Given the description of an element on the screen output the (x, y) to click on. 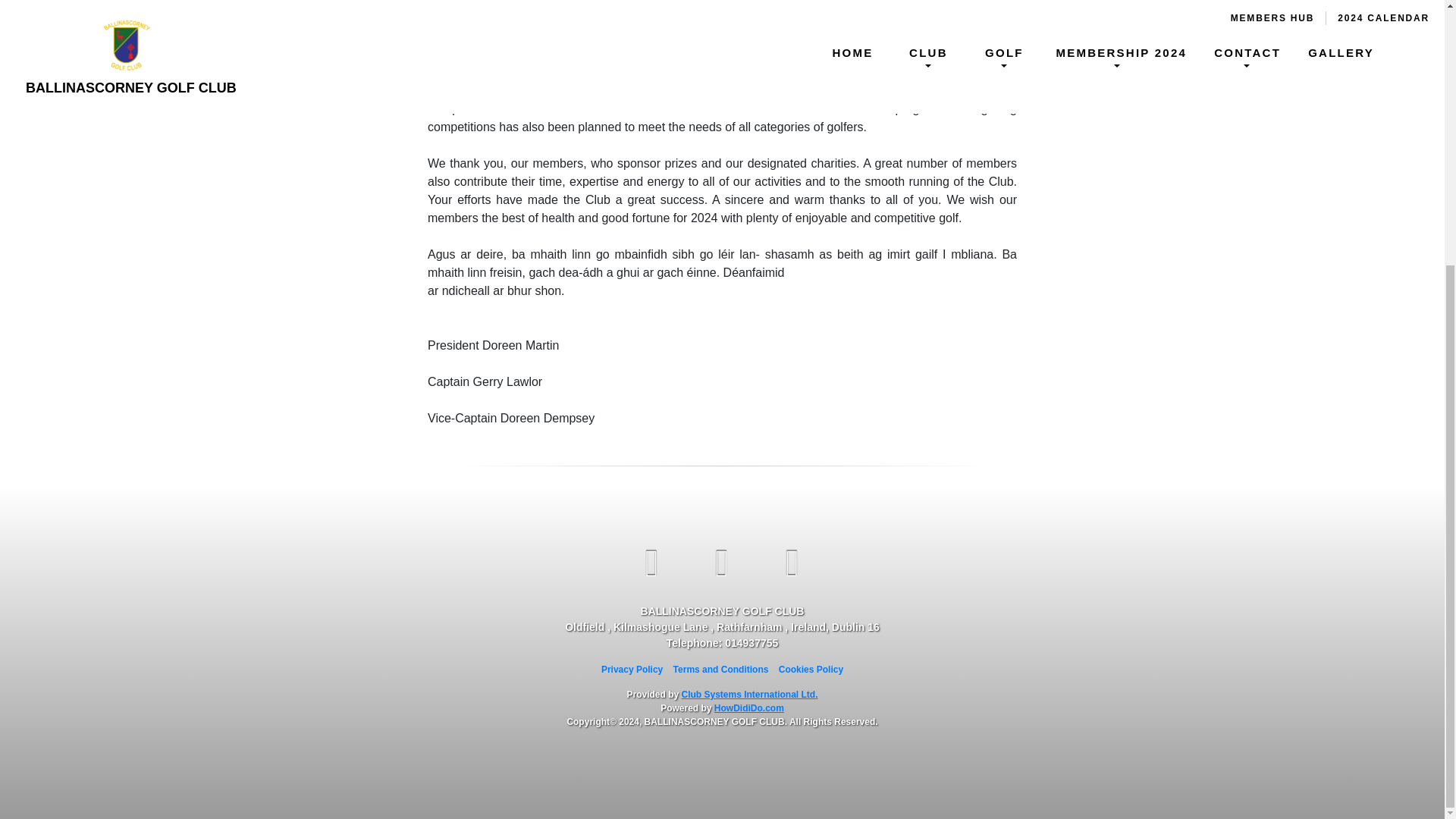
Cookies Policy (810, 669)
Privacy Policy (631, 669)
Terms and Conditions (720, 669)
HowDidiDo.com (749, 707)
Club Systems International Ltd. (748, 694)
